Given the description of an element on the screen output the (x, y) to click on. 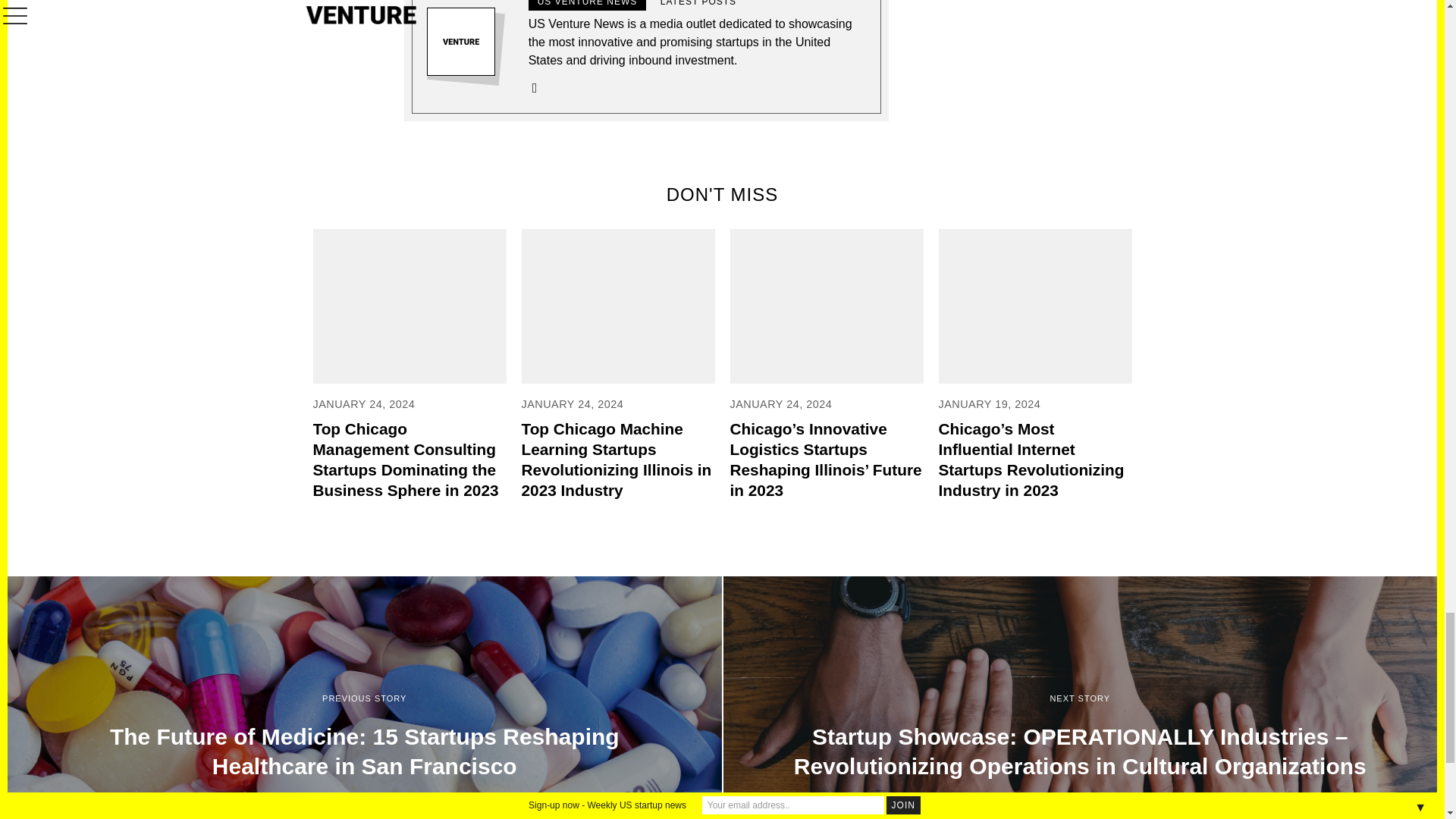
LATEST POSTS (697, 5)
US VENTURE NEWS (587, 5)
